Given the description of an element on the screen output the (x, y) to click on. 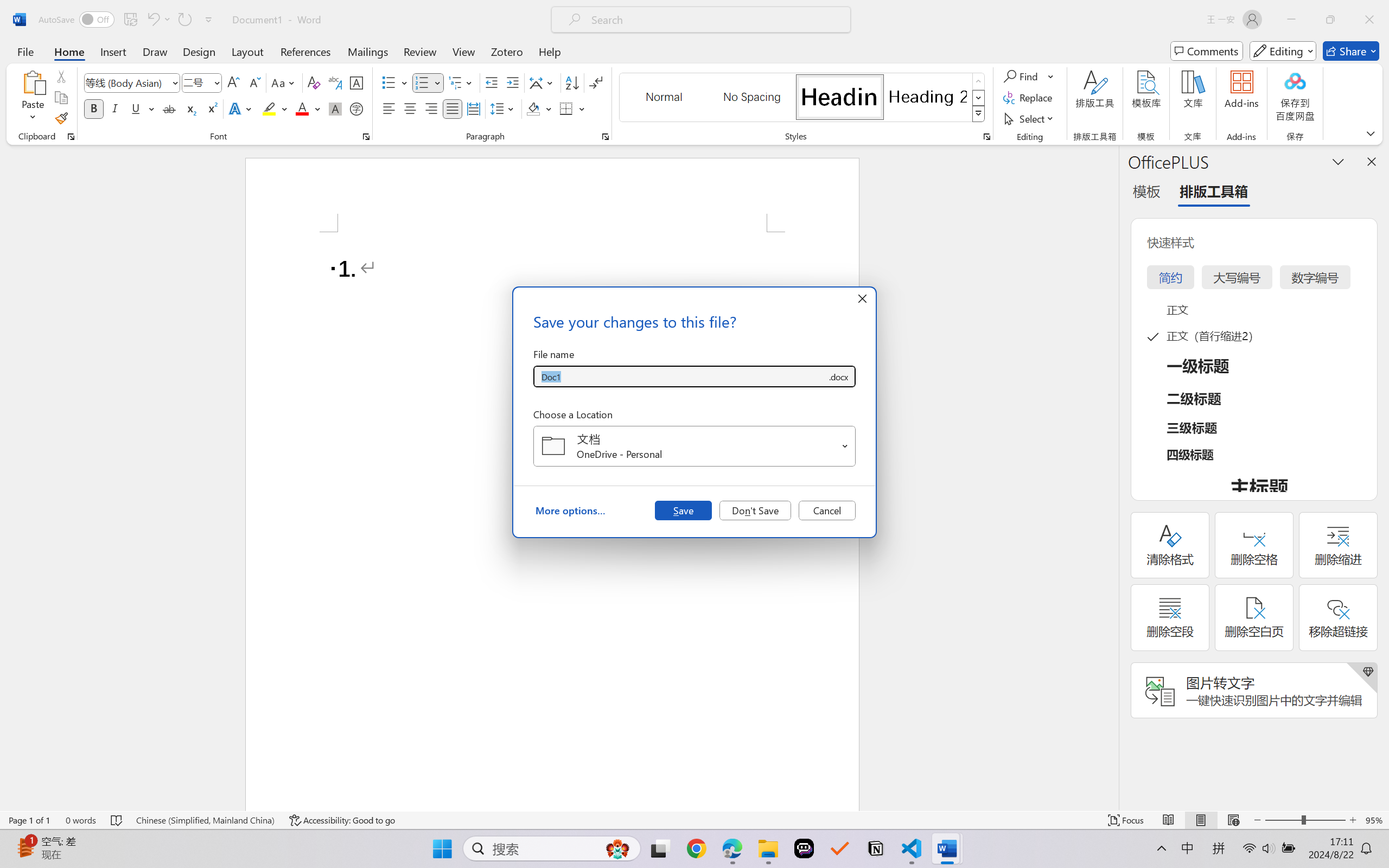
Class: MsoCommandBar (694, 819)
Microsoft search (715, 19)
Google Chrome (696, 848)
